Given the description of an element on the screen output the (x, y) to click on. 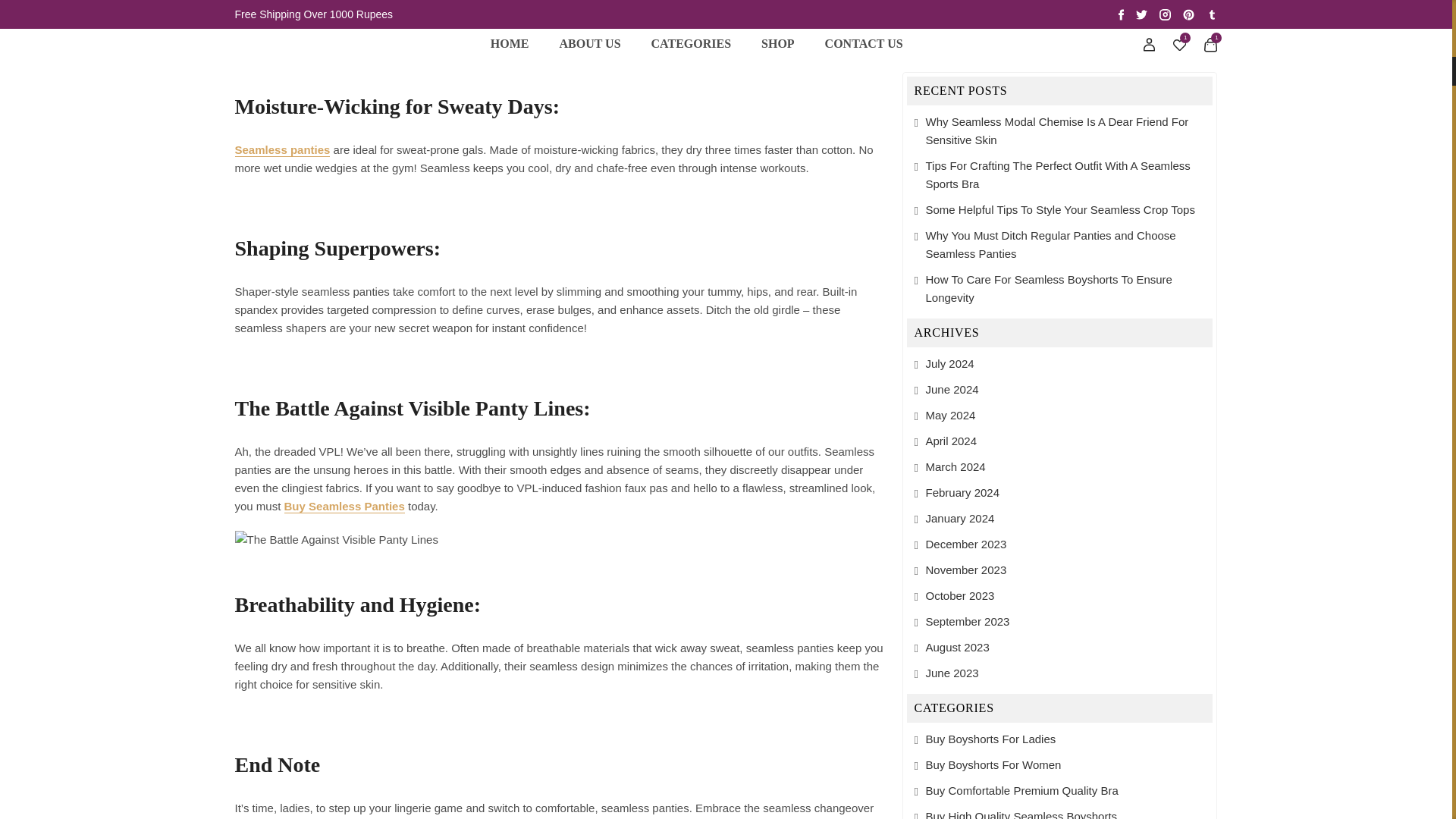
Buy Seamless Panties (566, 7)
Buy Seamless Panties (343, 505)
Seamless panties (282, 149)
